Given the description of an element on the screen output the (x, y) to click on. 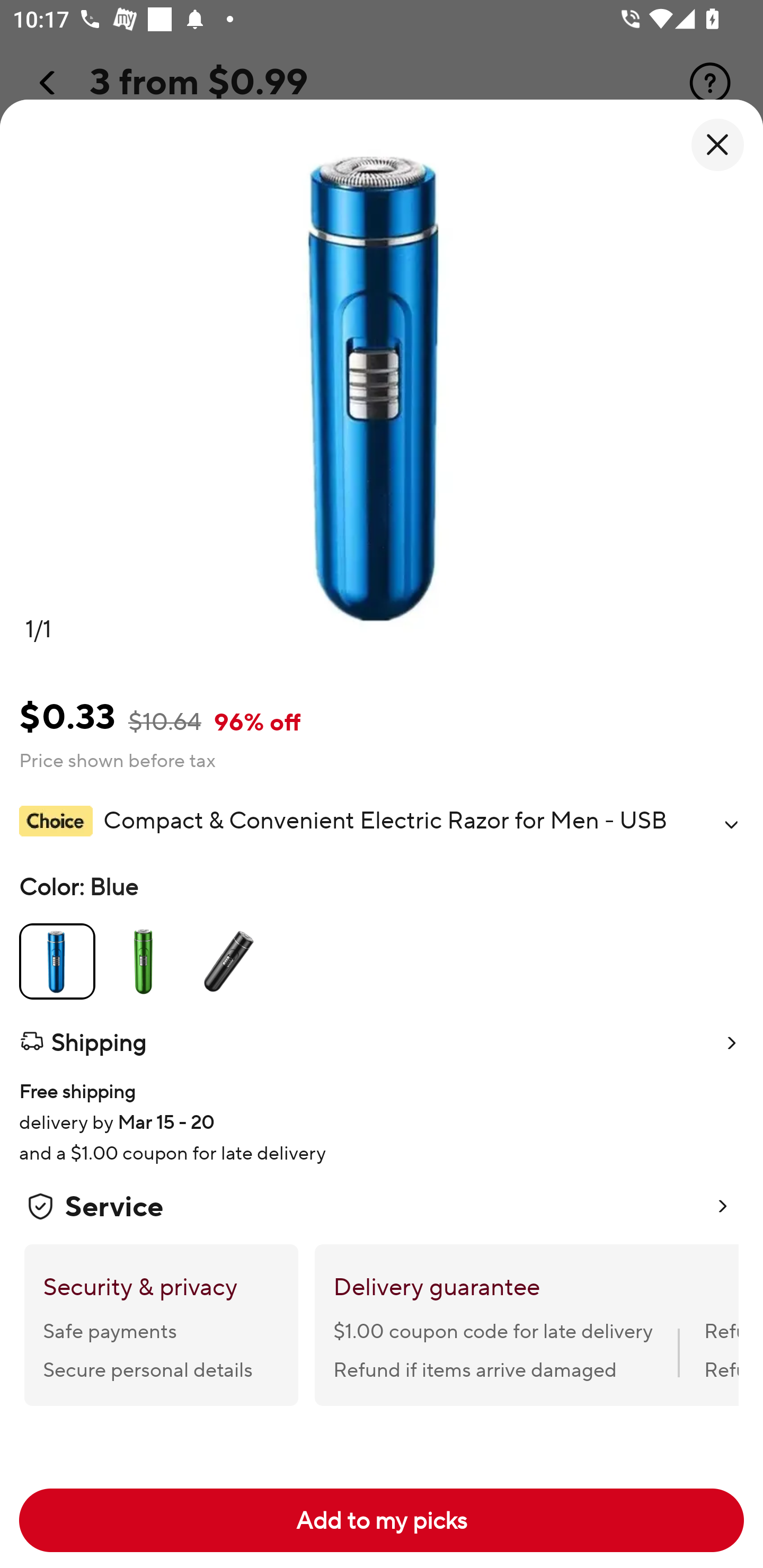
close  (717, 144)
 (730, 824)
Add to my picks (381, 1520)
